Given the description of an element on the screen output the (x, y) to click on. 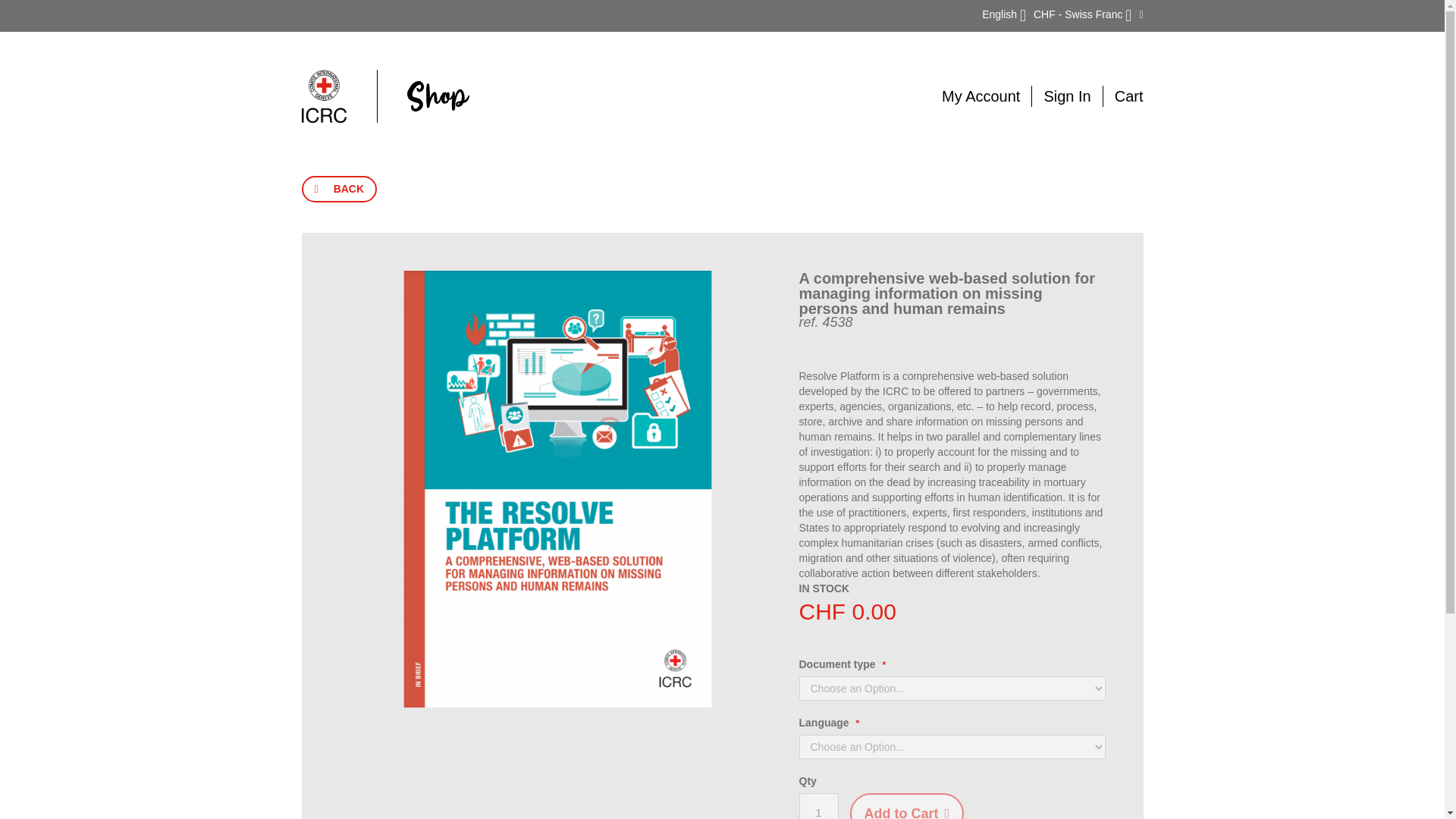
My Account (981, 95)
1 (818, 806)
Availability (824, 589)
Add to Cart (905, 806)
BACK (339, 189)
Sign In (1066, 95)
Go to Home page (385, 95)
Qty (818, 806)
Cart (1128, 96)
Add to Cart (905, 806)
